Given the description of an element on the screen output the (x, y) to click on. 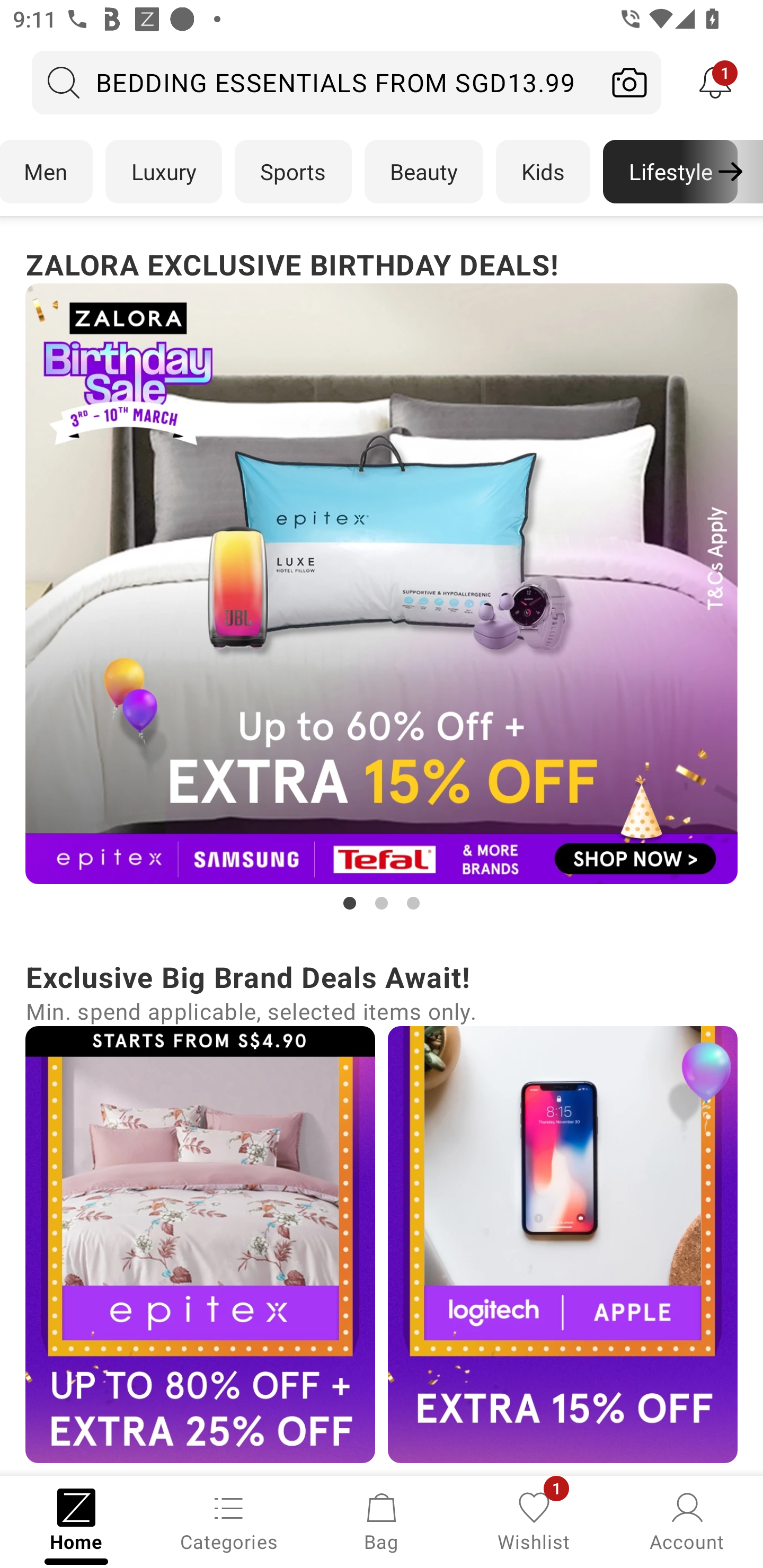
BEDDING ESSENTIALS FROM SGD13.99 (314, 82)
Men (46, 171)
Luxury (163, 171)
Sports (293, 171)
Beauty (423, 171)
Kids (542, 171)
Lifestyle (669, 171)
ZALORA EXCLUSIVE BIRTHDAY DEALS! Campaign banner (381, 578)
Campaign banner (381, 583)
Campaign banner (200, 1243)
Campaign banner (562, 1243)
Categories (228, 1519)
Bag (381, 1519)
Wishlist, 1 new notification Wishlist (533, 1519)
Account (686, 1519)
